Given the description of an element on the screen output the (x, y) to click on. 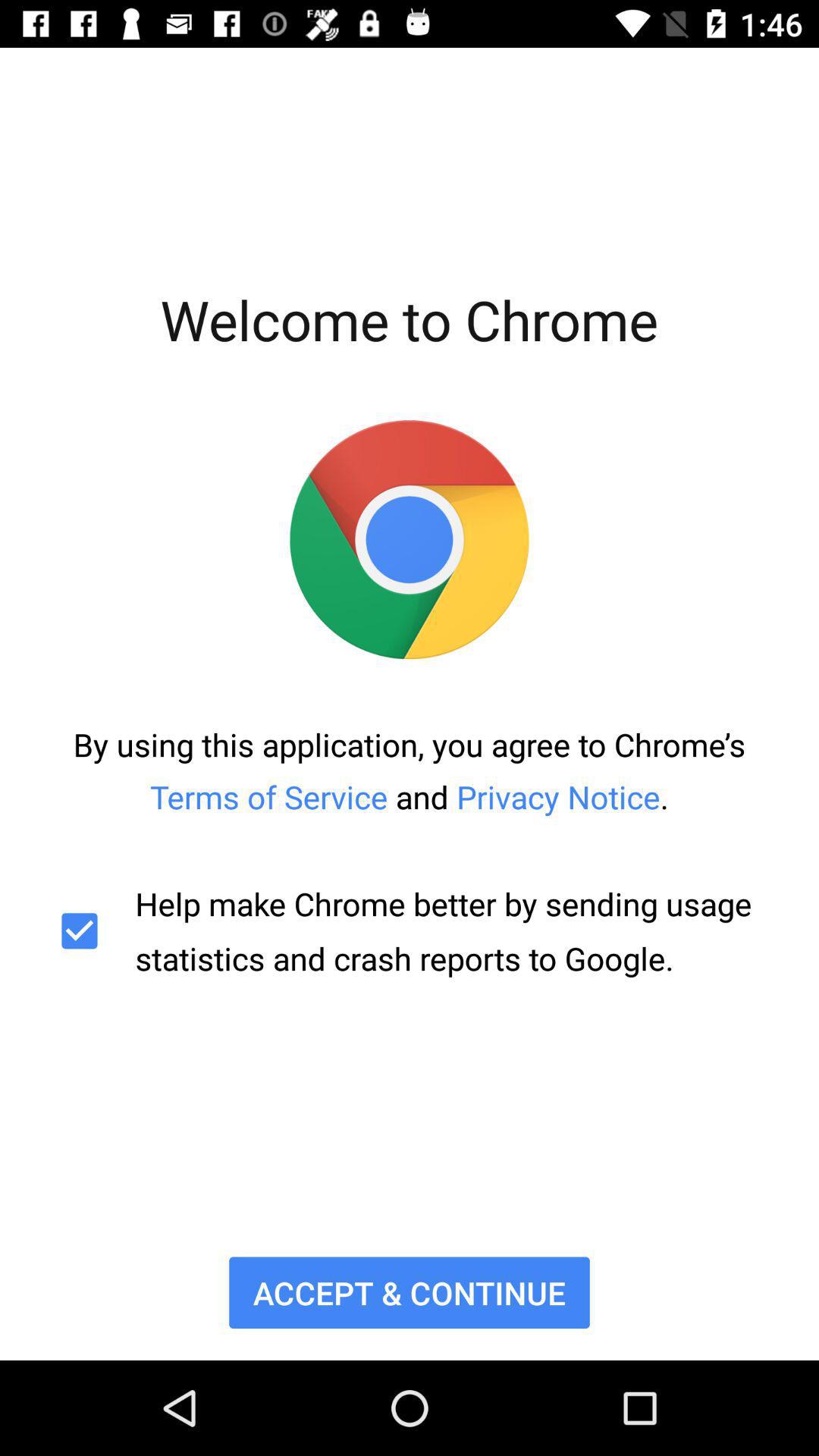
tap the accept & continue (409, 1292)
